Given the description of an element on the screen output the (x, y) to click on. 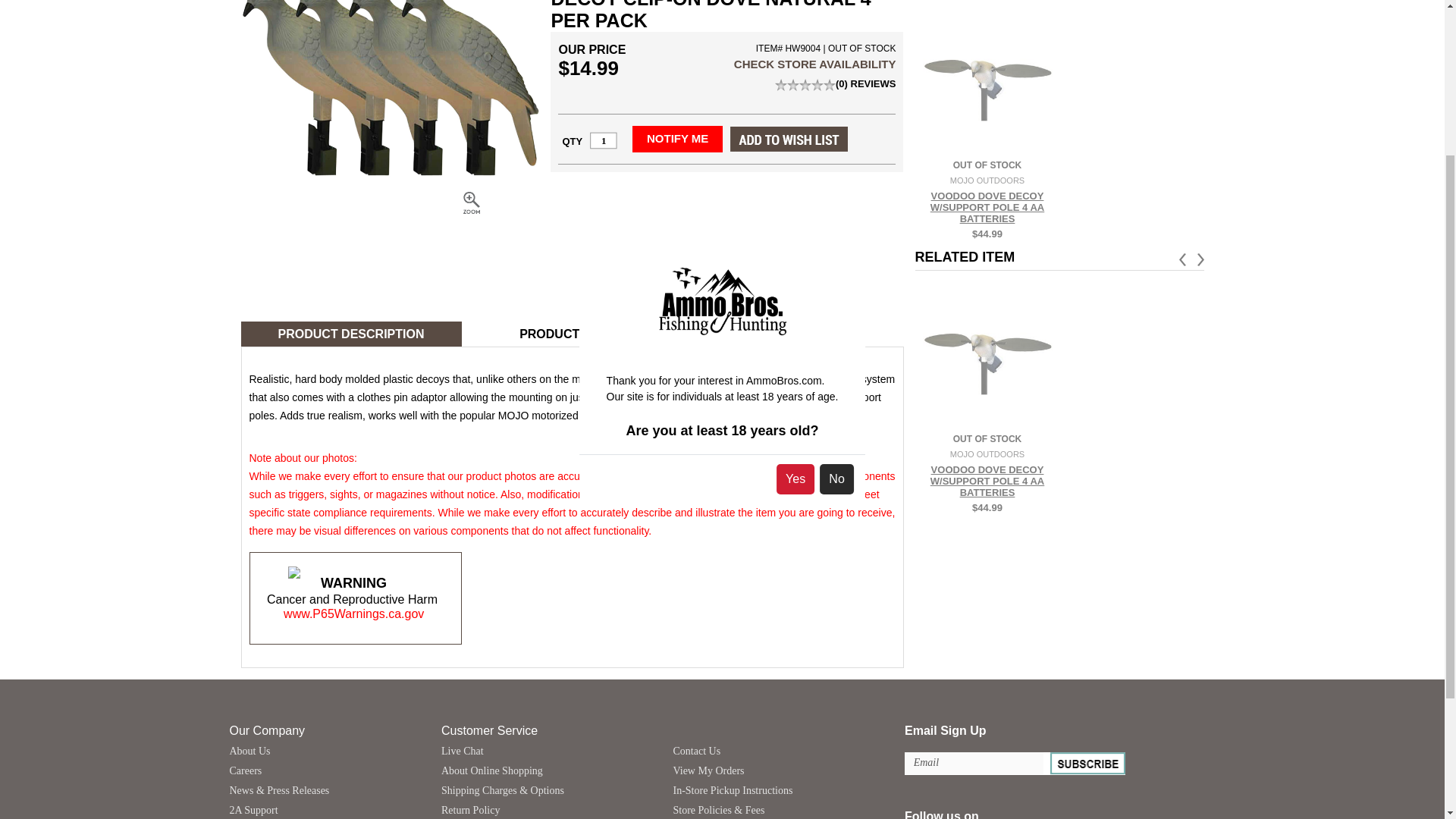
CHECK STORE AVAILABILITY (814, 63)
Email (973, 762)
NOTIFY ME (676, 139)
ADD TO WISH LIST (789, 139)
1 (603, 140)
www.P65Warnings.ca.gov (353, 613)
